Given the description of an element on the screen output the (x, y) to click on. 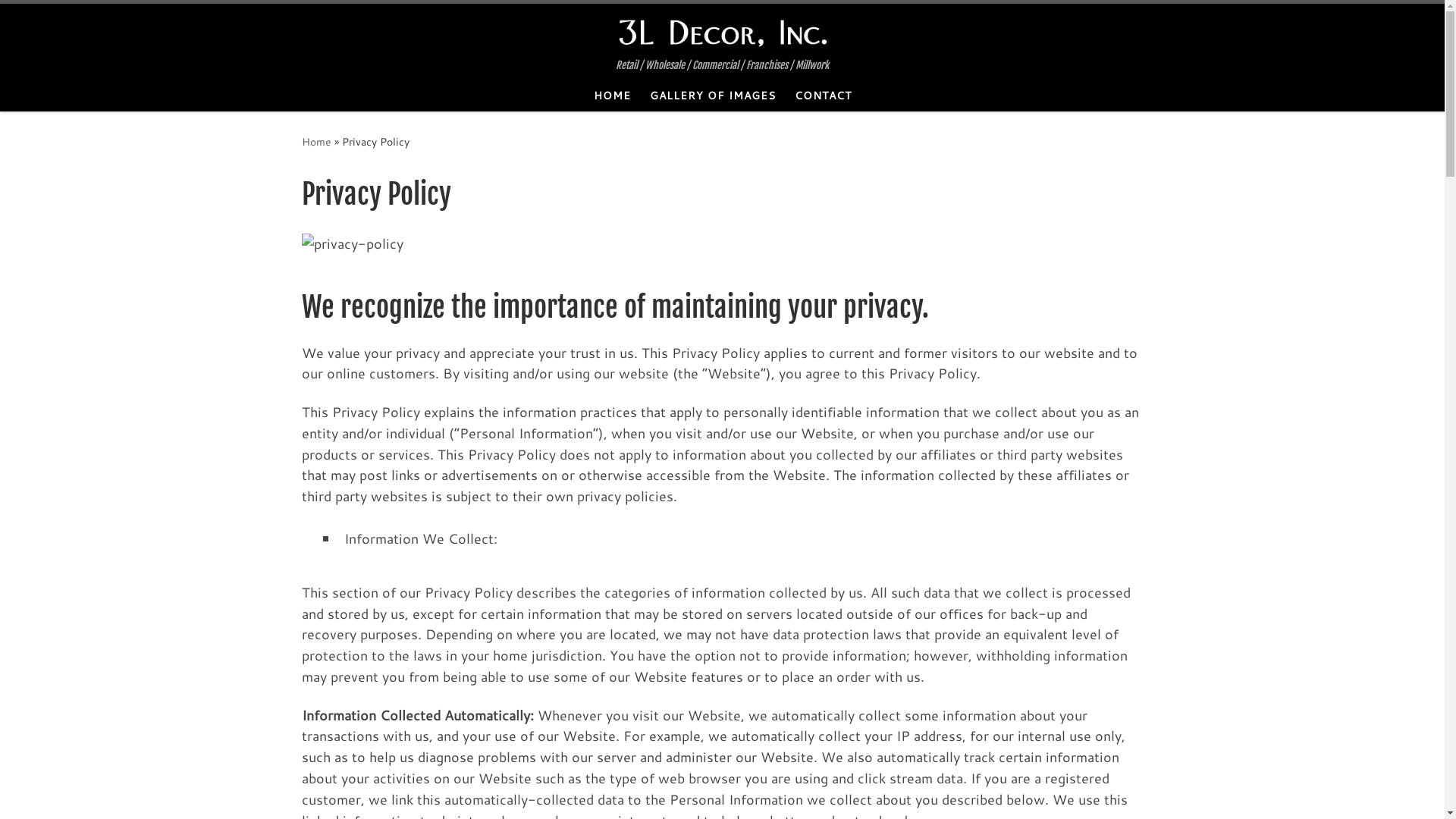
GALLERY OF IMAGES Element type: text (712, 95)
HOME Element type: text (611, 95)
Home Element type: text (316, 141)
Skip to content Element type: text (61, 21)
CONTACT Element type: text (822, 95)
